Given the description of an element on the screen output the (x, y) to click on. 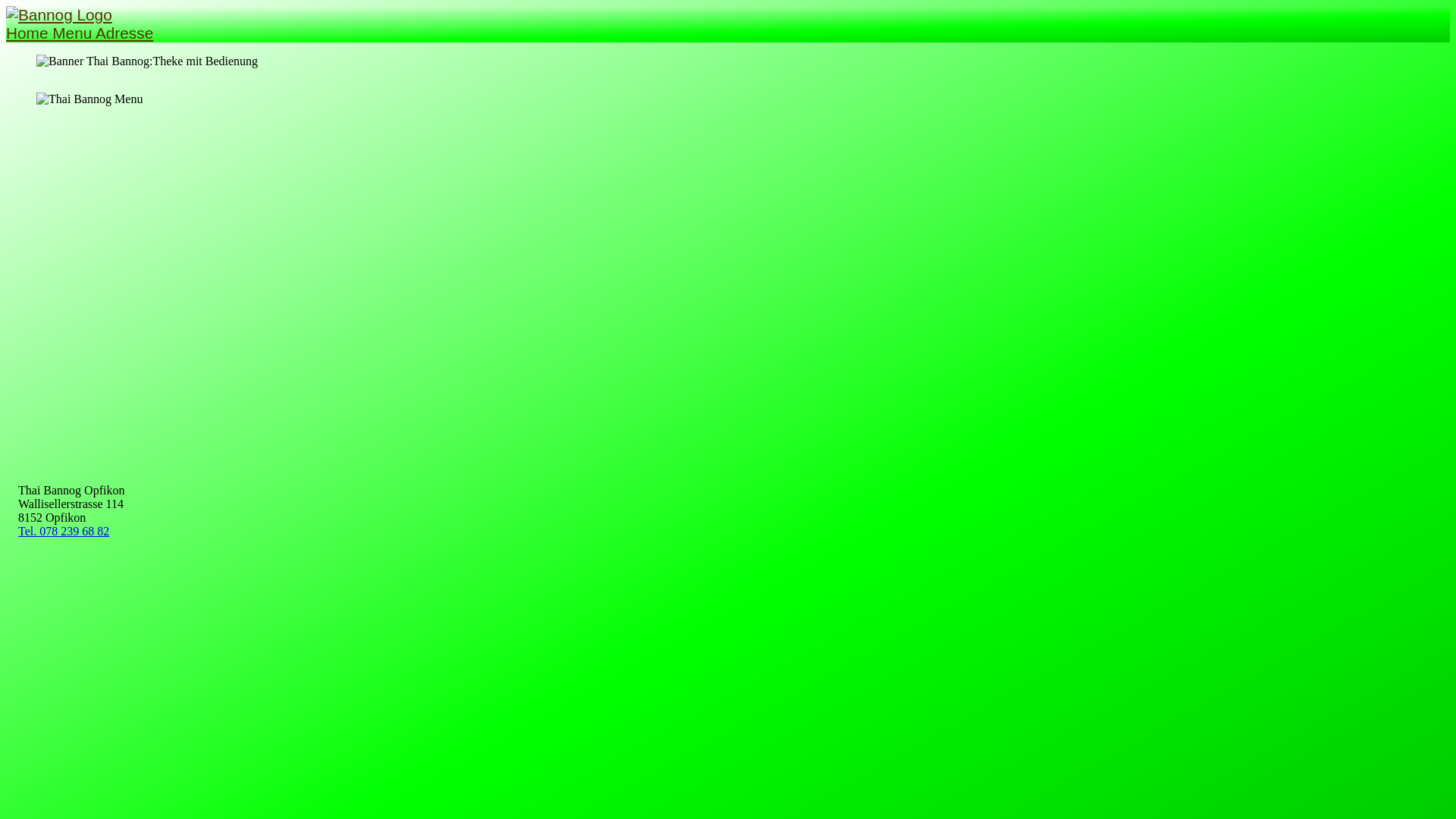
Tel. 078 239 68 82 Element type: text (63, 530)
Adresse Element type: text (124, 32)
Menu Element type: text (73, 32)
Home Element type: text (29, 32)
